Given the description of an element on the screen output the (x, y) to click on. 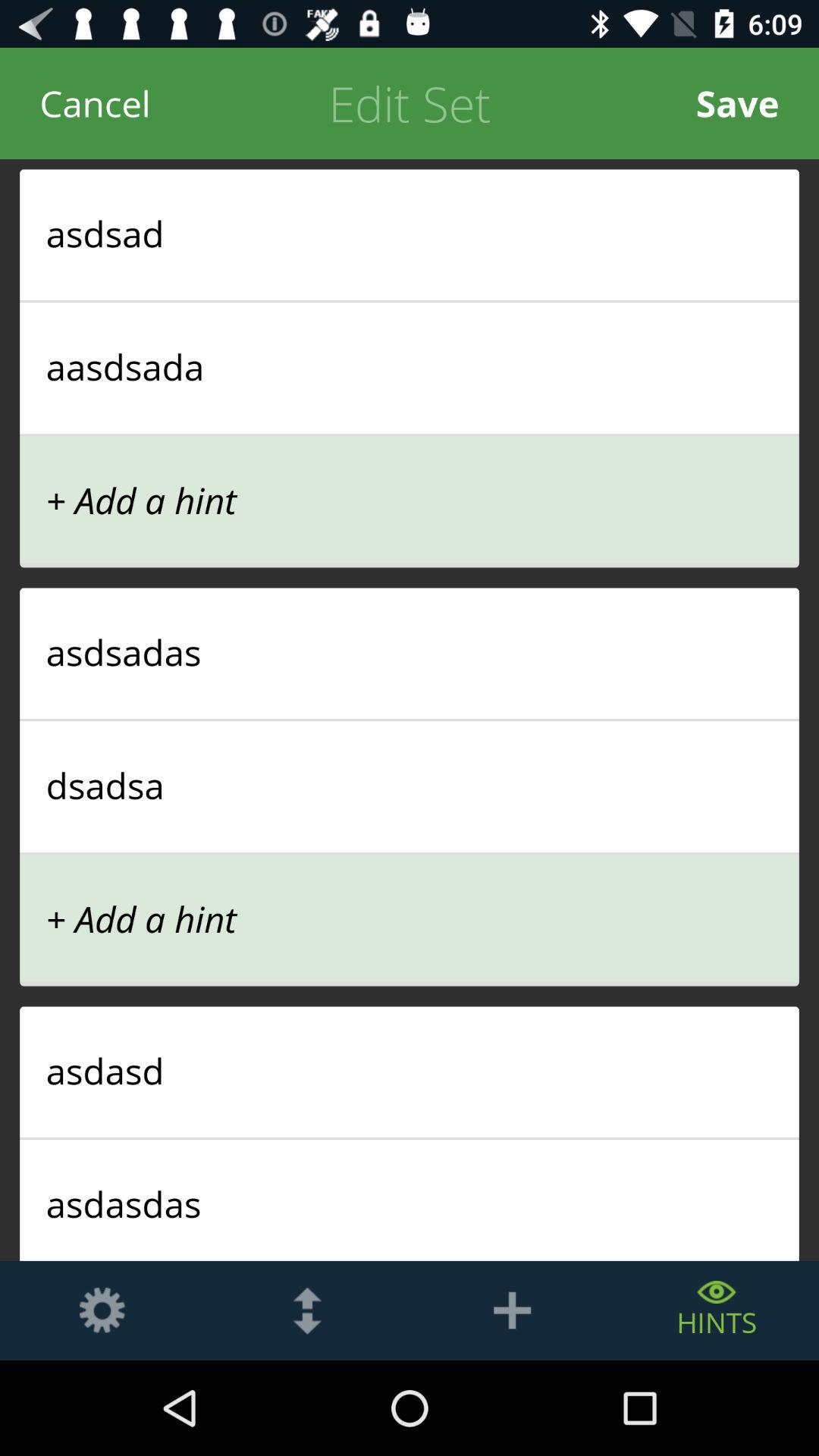
click icon above the dsadsa icon (409, 719)
